Given the description of an element on the screen output the (x, y) to click on. 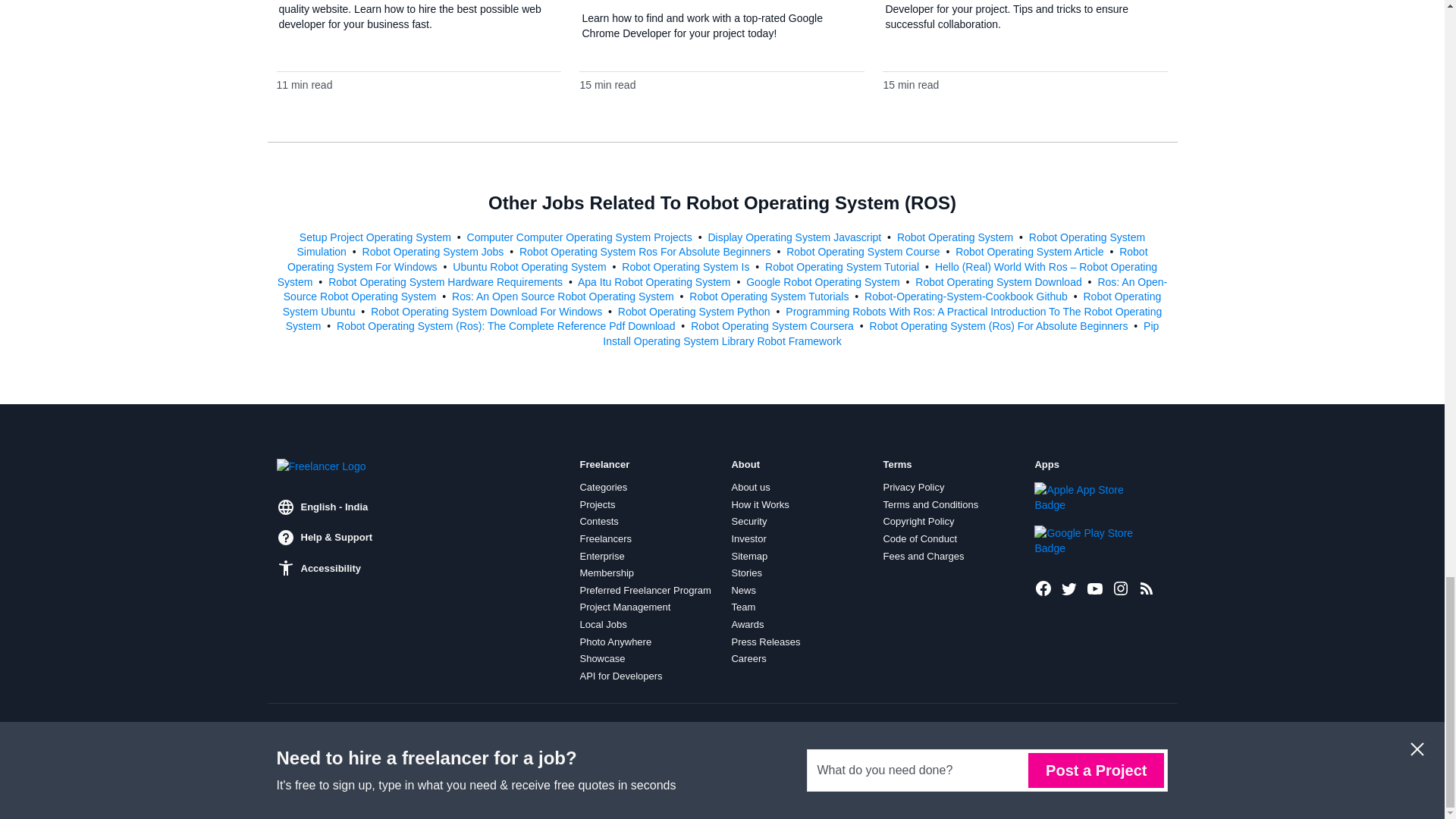
Download on the App Store (1085, 497)
Freelancer on Facebook (1042, 588)
Latest Projects (1146, 588)
Freelancer on Instagram (1120, 588)
Freelancer on Youtube (1094, 588)
Freelancer on Twitter (1068, 588)
Get it on Google Play (1085, 540)
